Given the description of an element on the screen output the (x, y) to click on. 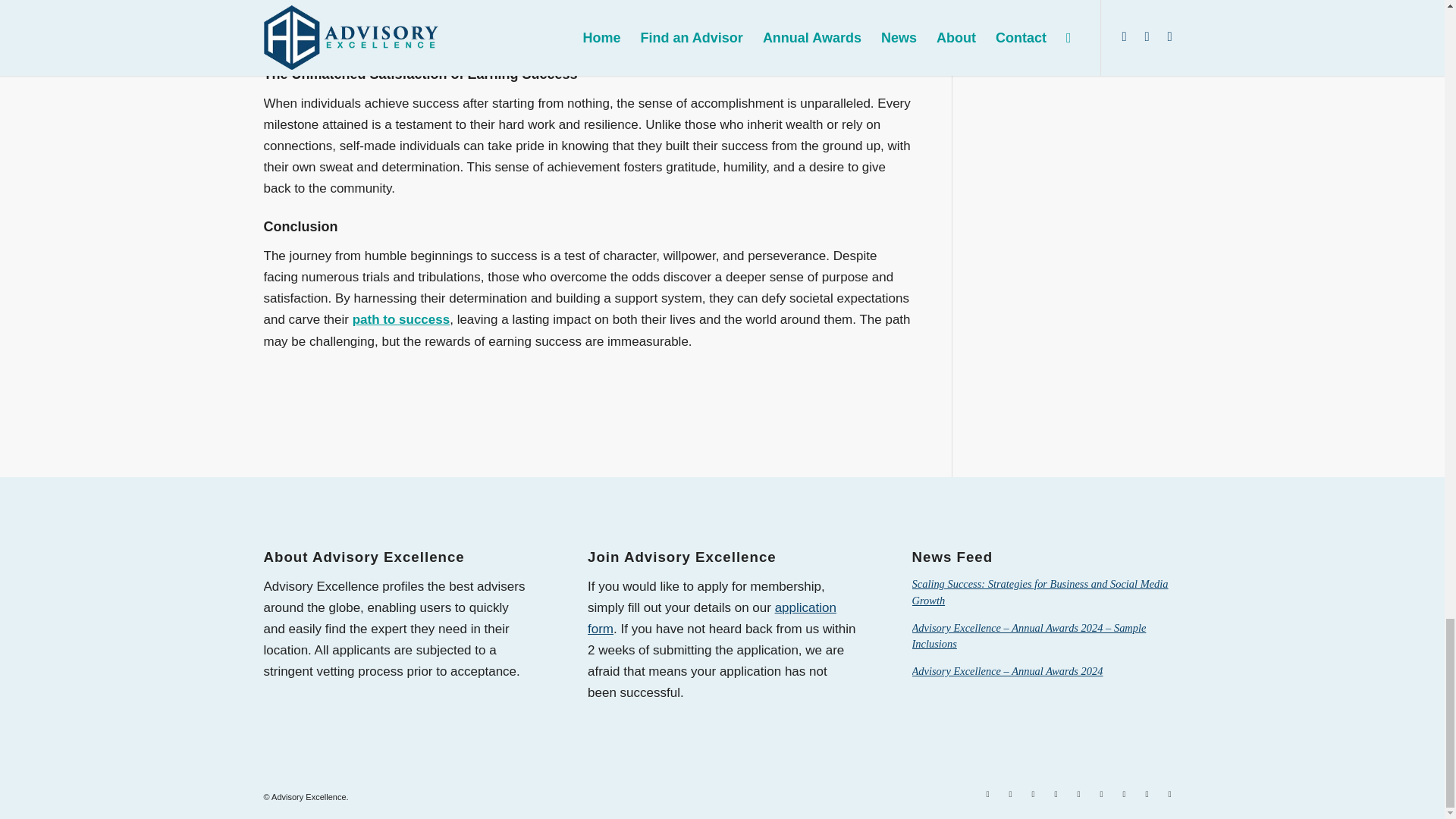
path to success (400, 319)
valuable insights (360, 14)
